Given the description of an element on the screen output the (x, y) to click on. 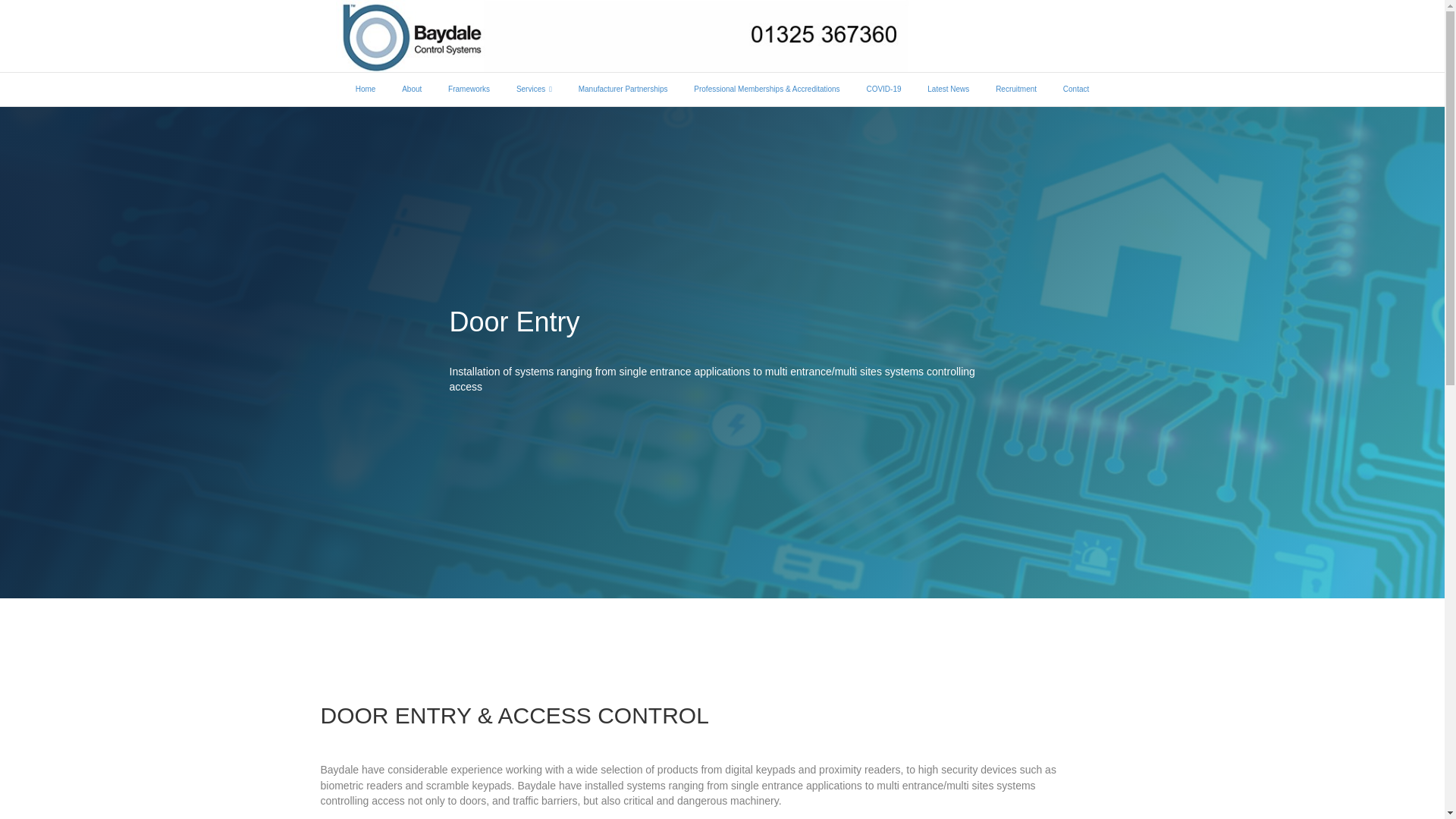
COVID-19 (882, 89)
About (411, 89)
Recruitment (1016, 89)
Latest News (948, 89)
Home (365, 89)
Services (533, 89)
Contact (1075, 89)
Frameworks (468, 89)
Manufacturer Partnerships (622, 89)
